Given the description of an element on the screen output the (x, y) to click on. 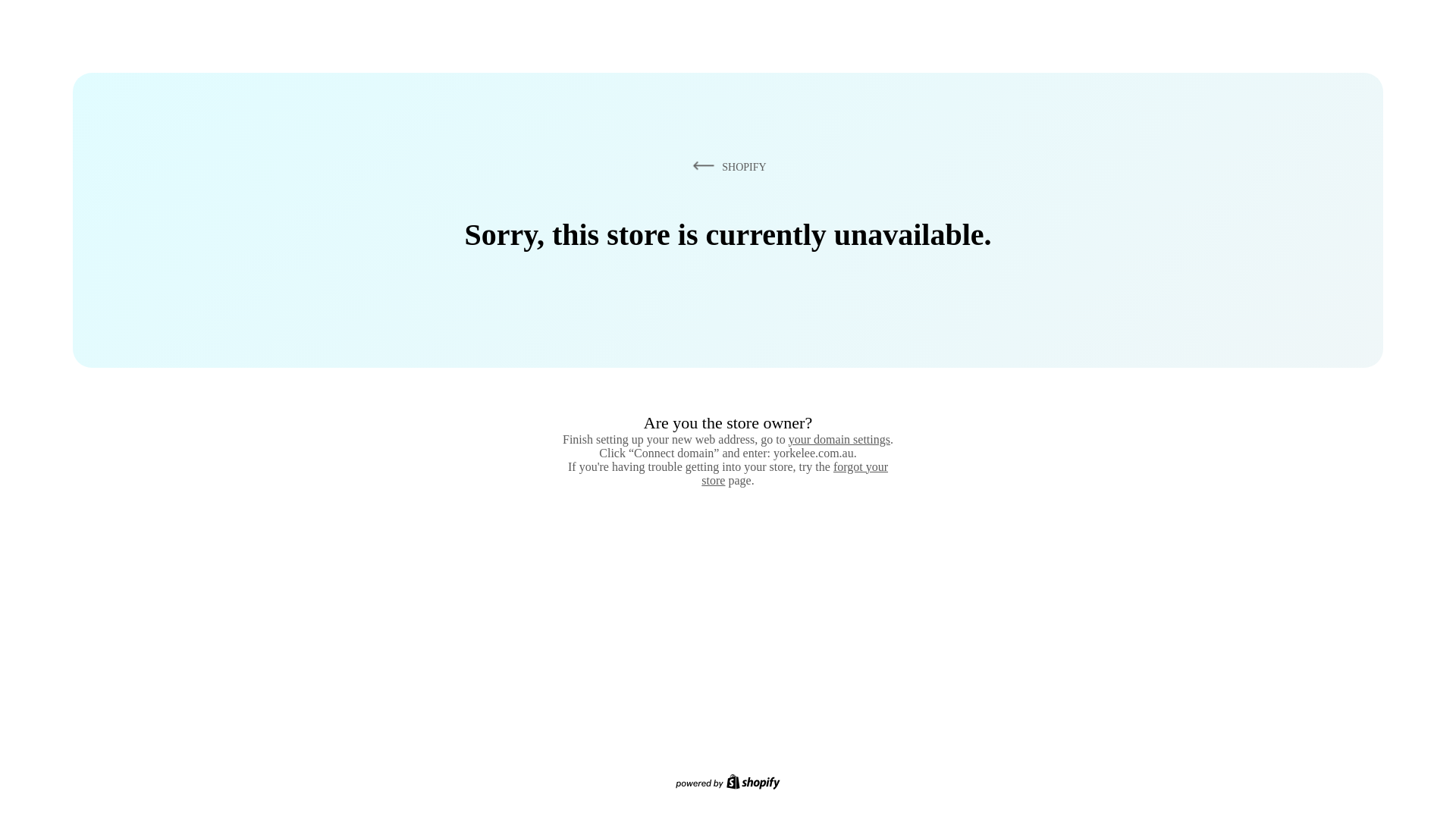
your domain settings (839, 439)
forgot your store (794, 473)
SHOPIFY (726, 166)
